Given the description of an element on the screen output the (x, y) to click on. 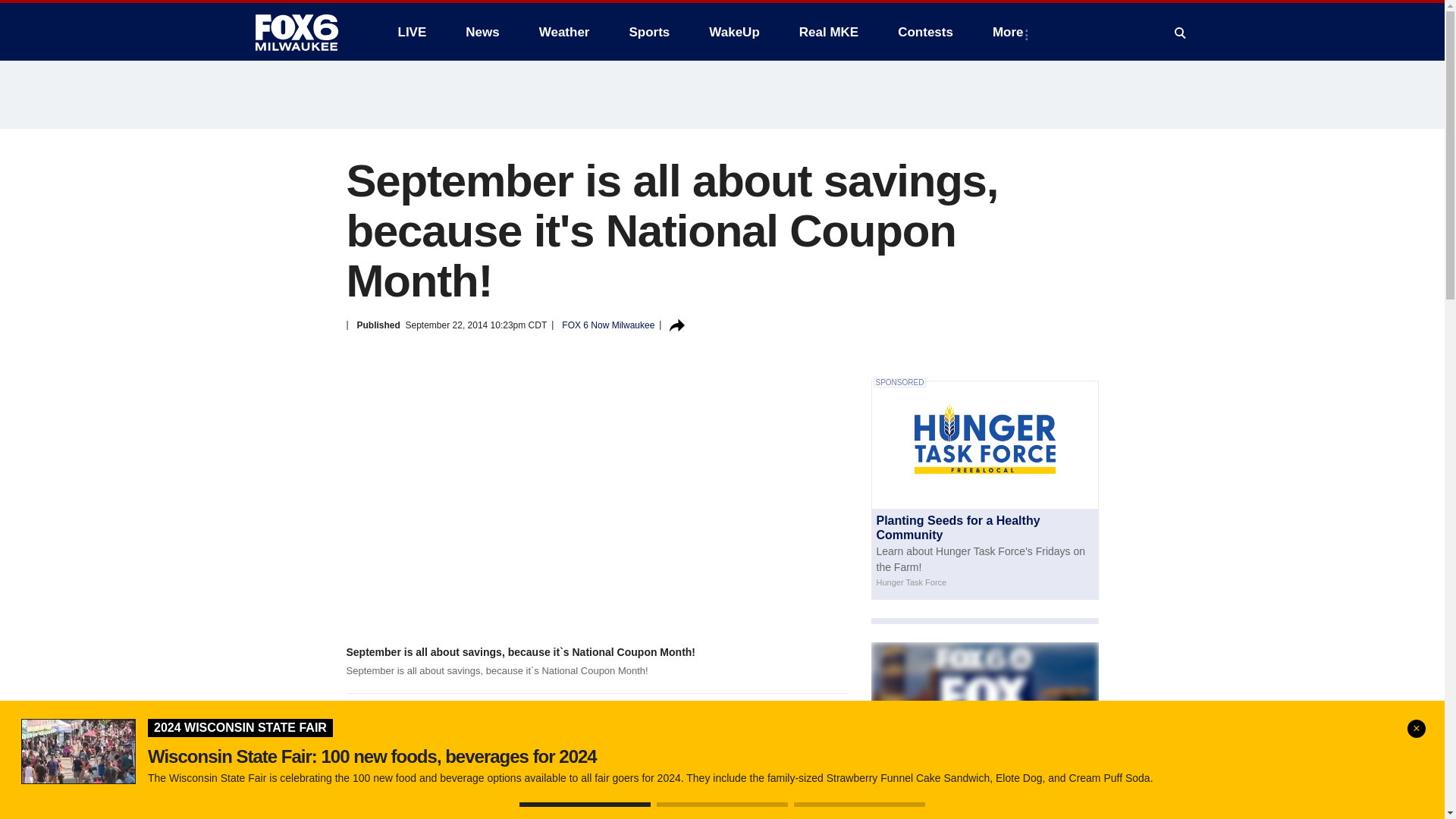
WakeUp (734, 32)
Weather (564, 32)
More (1010, 32)
Contests (925, 32)
Sports (648, 32)
News (481, 32)
Real MKE (828, 32)
LIVE (411, 32)
